Given the description of an element on the screen output the (x, y) to click on. 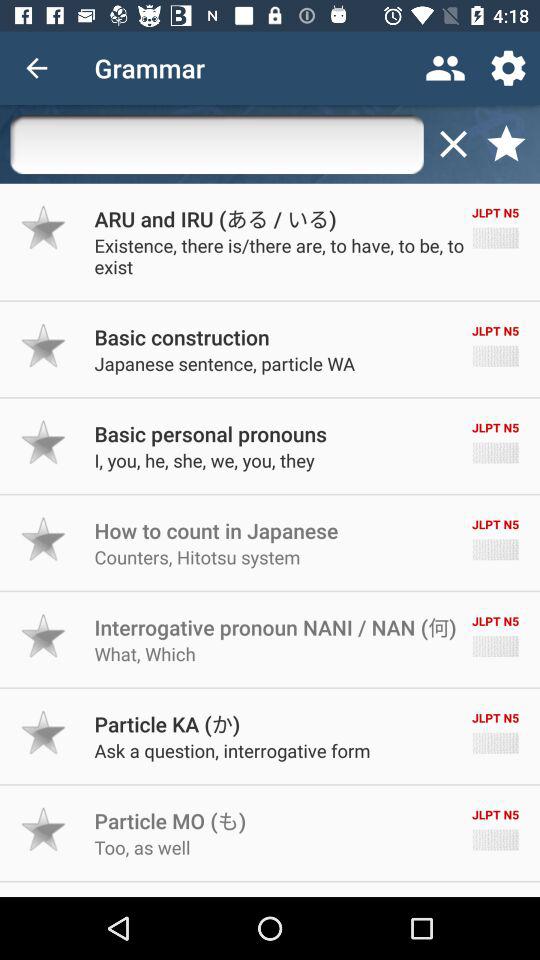
find favorites (506, 144)
